Given the description of an element on the screen output the (x, y) to click on. 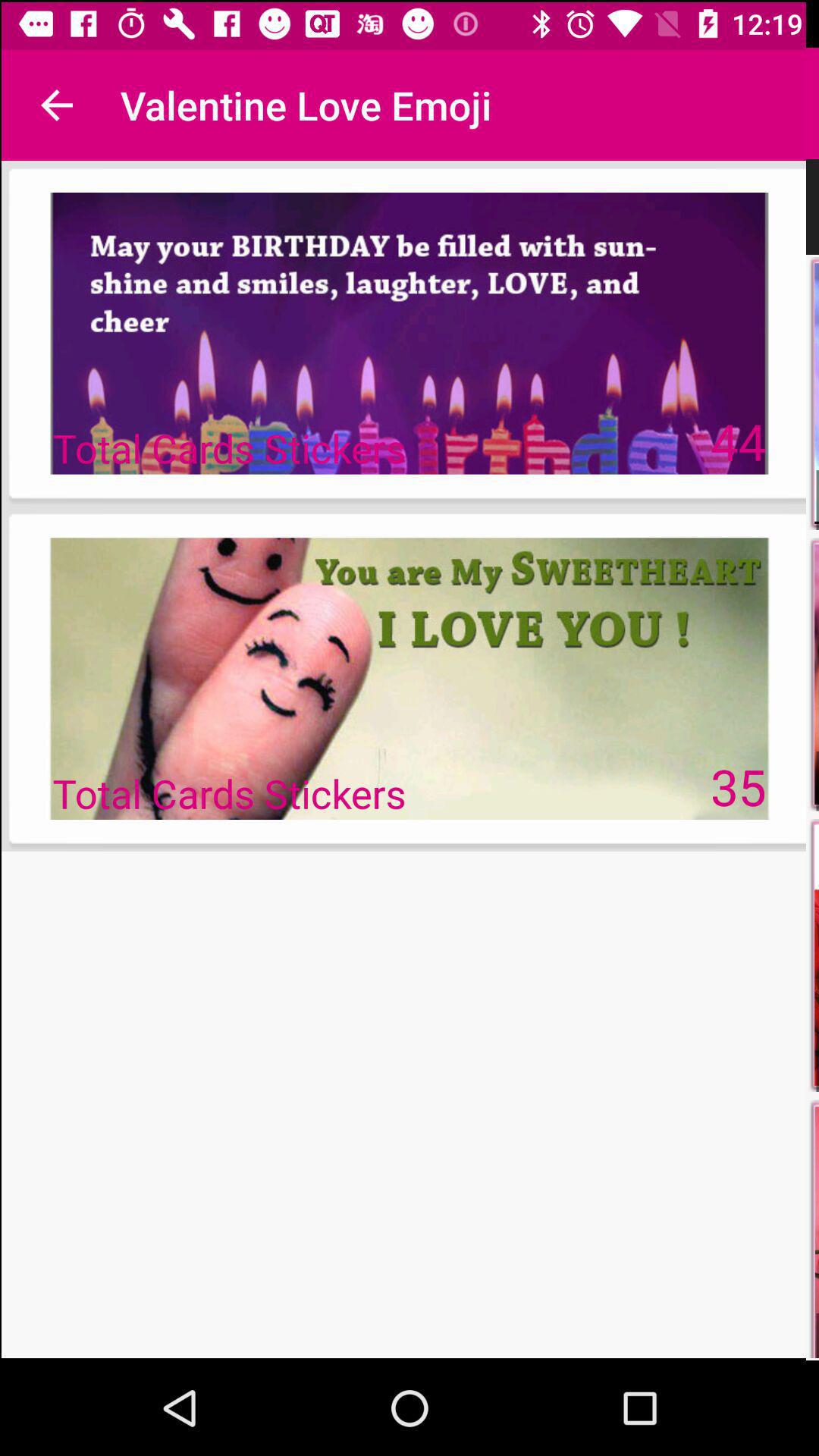
press the item to the right of total cards stickers item (739, 440)
